Given the description of an element on the screen output the (x, y) to click on. 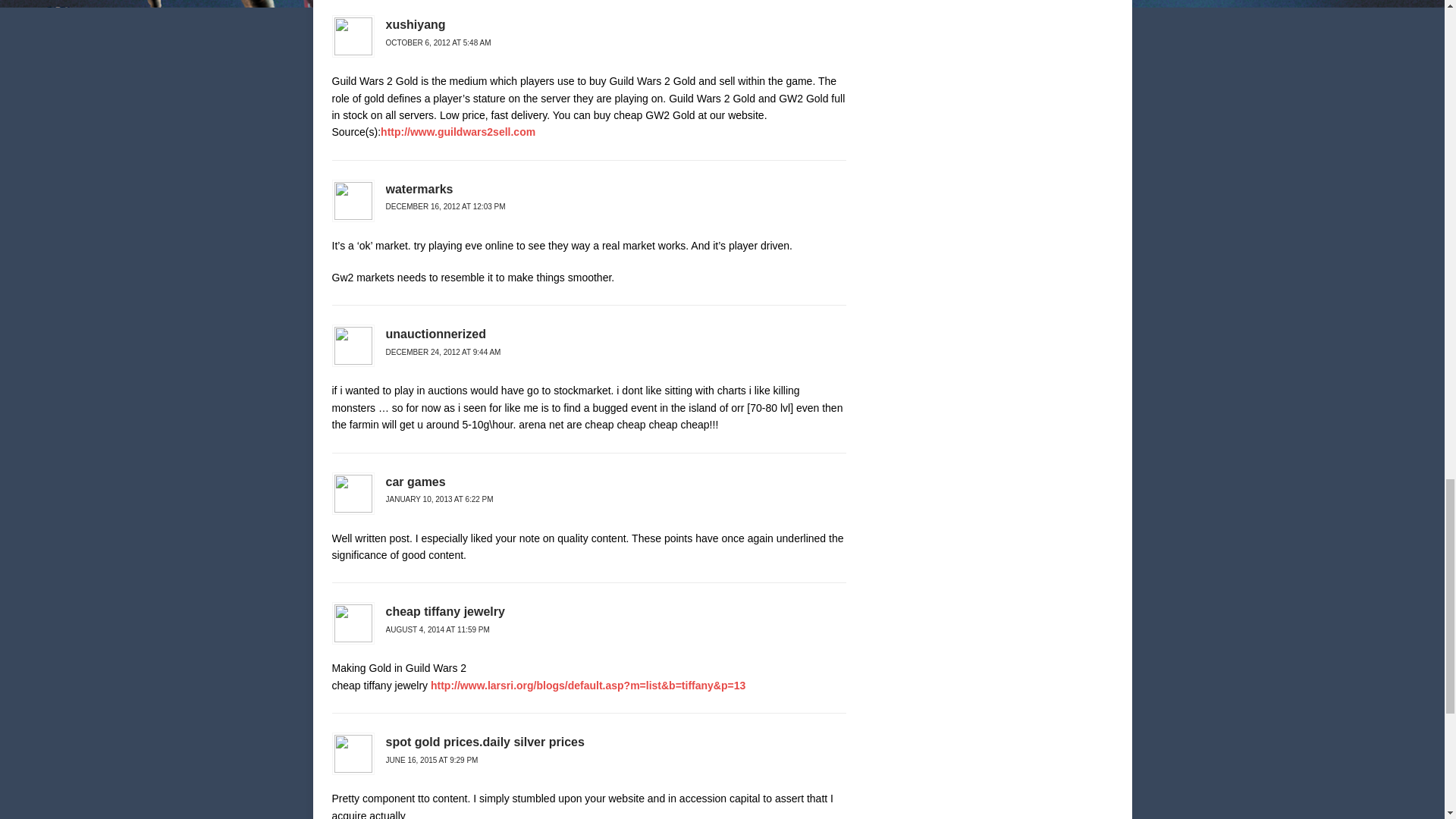
AUGUST 4, 2014 AT 11:59 PM (437, 629)
car games (415, 481)
DECEMBER 24, 2012 AT 9:44 AM (442, 352)
cheap tiffany jewelry (444, 611)
xushiyang (415, 24)
JUNE 16, 2015 AT 9:29 PM (431, 759)
OCTOBER 6, 2012 AT 5:48 AM (437, 42)
DECEMBER 16, 2012 AT 12:03 PM (445, 206)
JANUARY 10, 2013 AT 6:22 PM (439, 499)
spot gold prices.daily silver prices (484, 741)
